Given the description of an element on the screen output the (x, y) to click on. 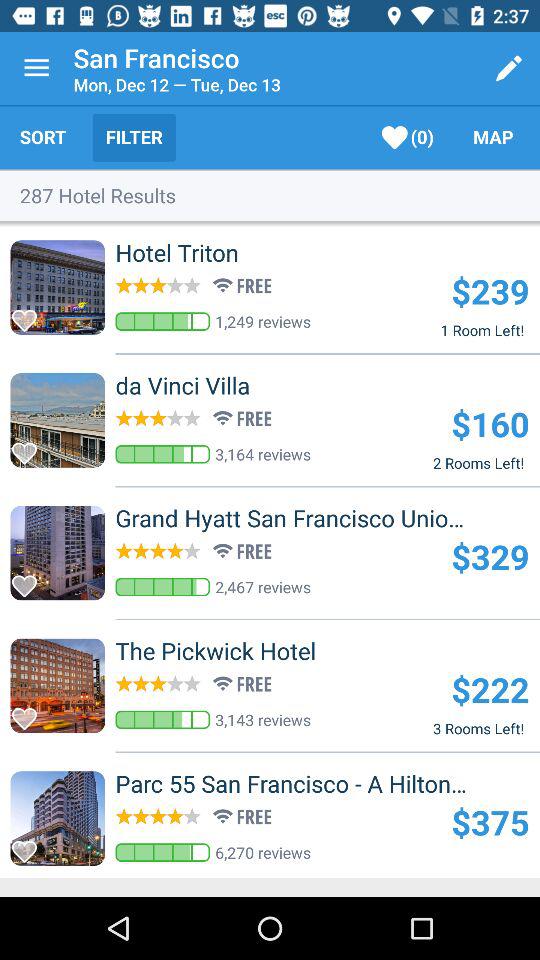
select the $222 item (490, 689)
